Given the description of an element on the screen output the (x, y) to click on. 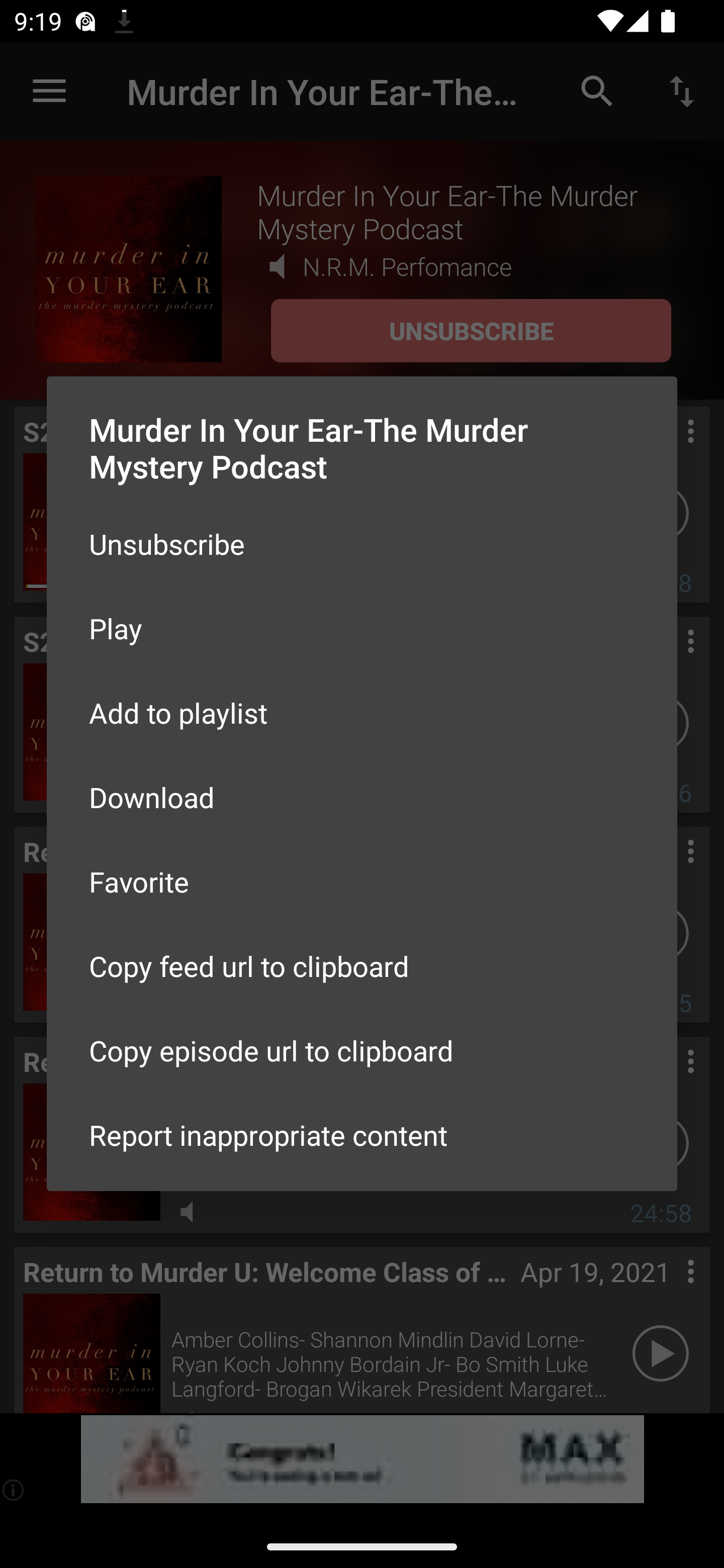
Unsubscribe (361, 543)
Play (361, 628)
Add to playlist (361, 712)
Download (361, 796)
Favorite (361, 880)
Copy feed url to clipboard (361, 965)
Copy episode url to clipboard (361, 1050)
Report inappropriate content (361, 1134)
